Given the description of an element on the screen output the (x, y) to click on. 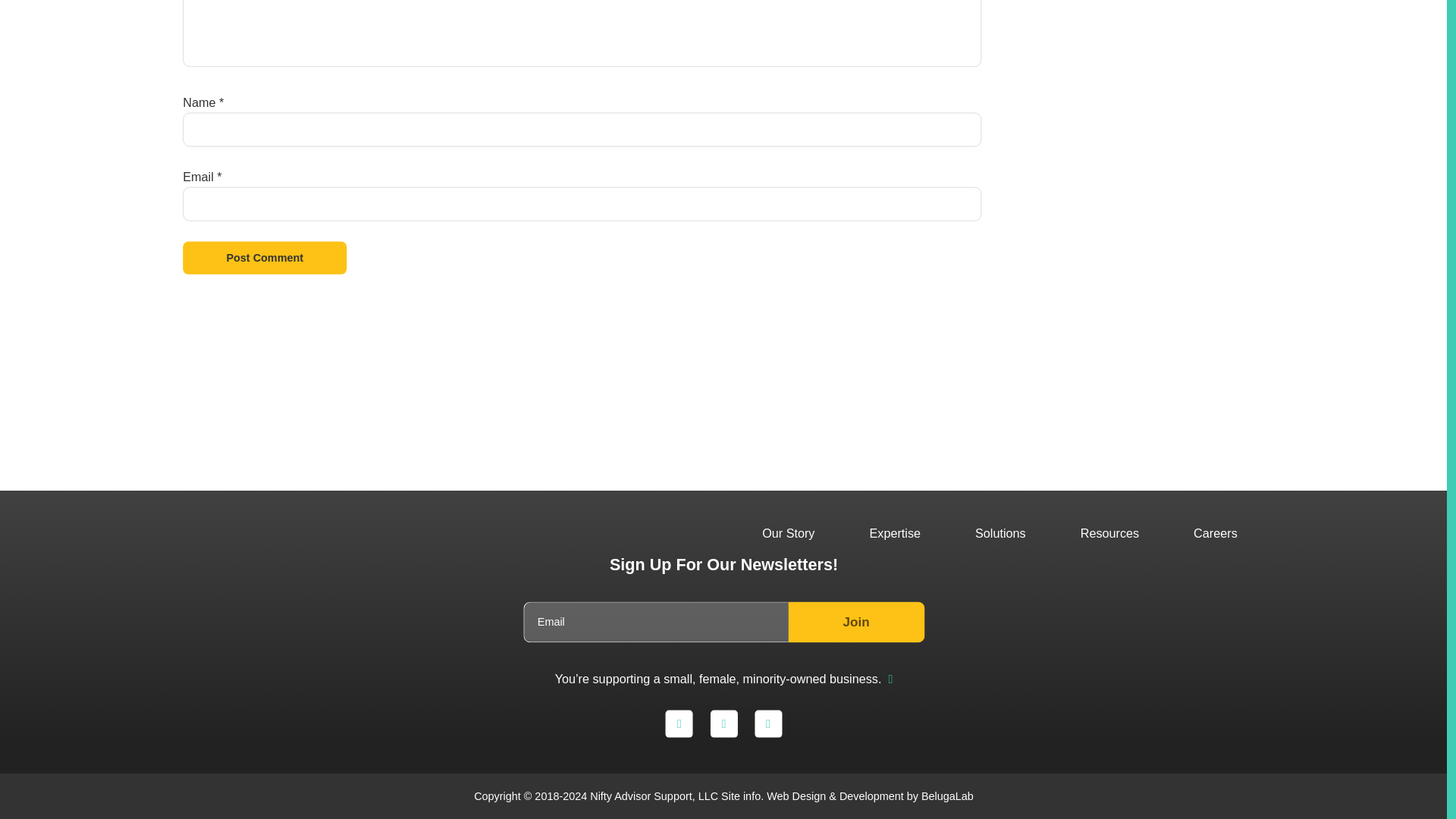
Join (863, 624)
Web Design Company NY (842, 796)
Post Comment (274, 259)
